Given the description of an element on the screen output the (x, y) to click on. 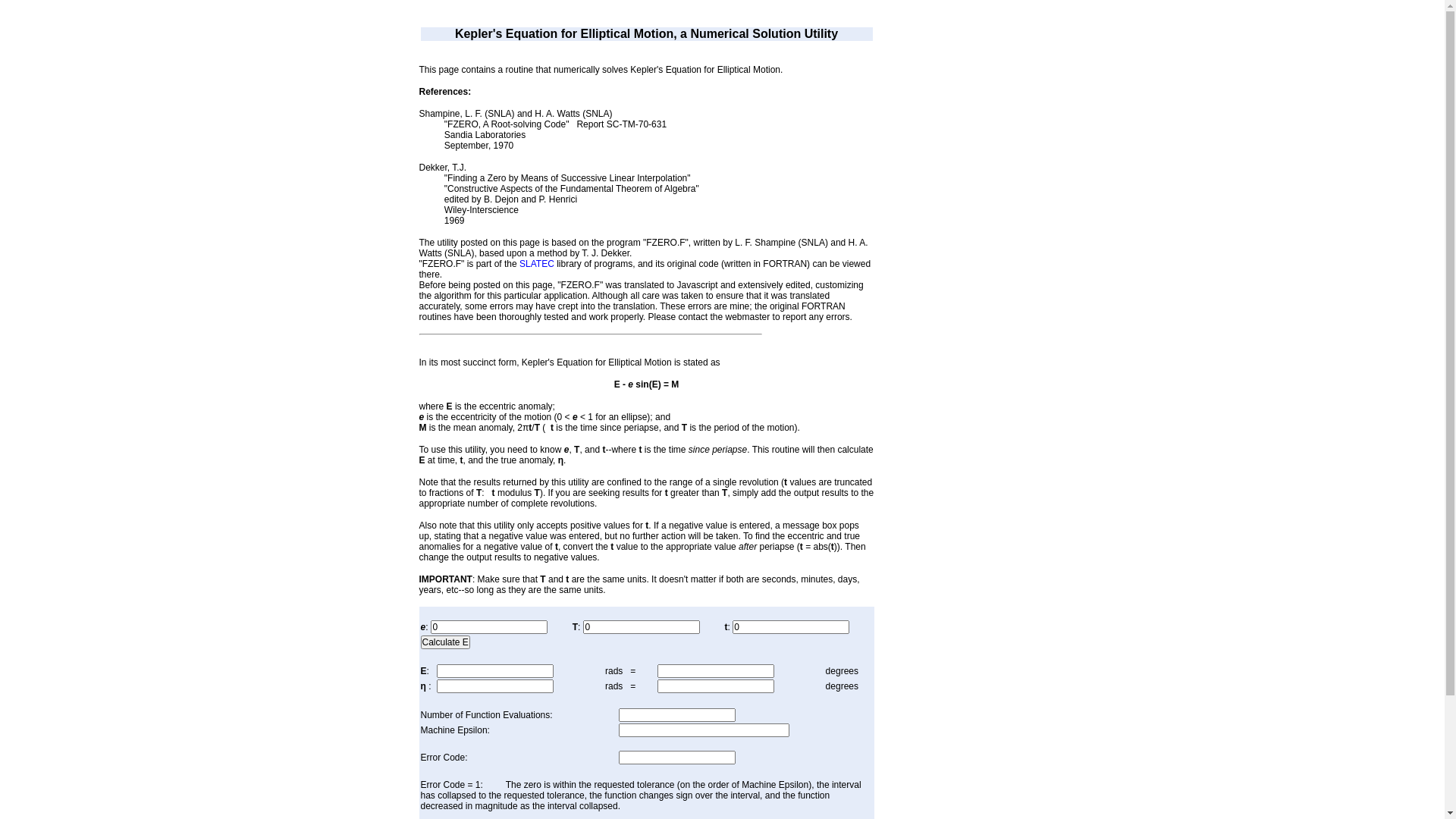
Calculate E Element type: text (444, 642)
SLATEC Element type: text (536, 263)
